Given the description of an element on the screen output the (x, y) to click on. 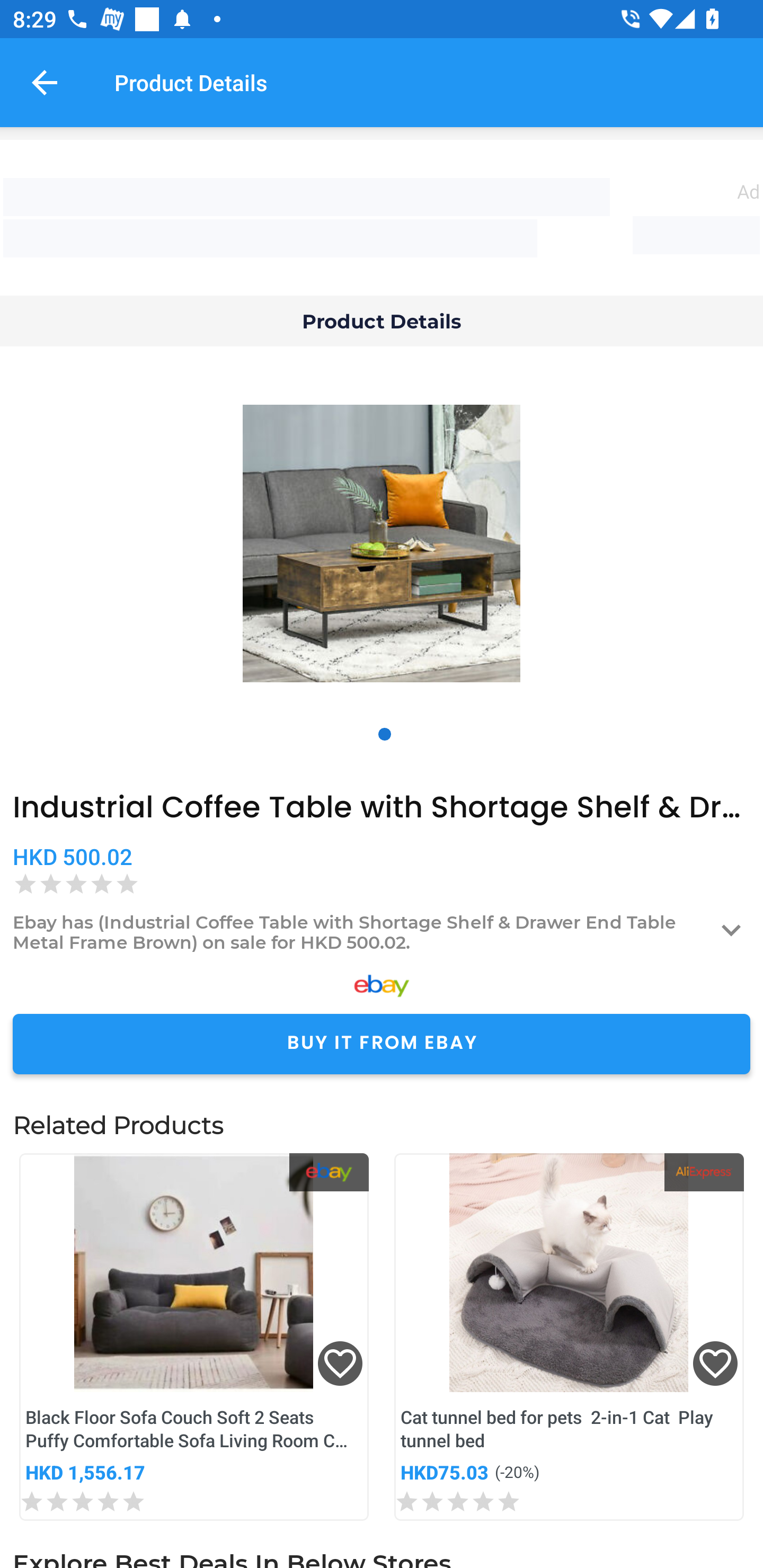
Navigate up (44, 82)
BUY IT FROM EBAY (381, 1044)
